Given the description of an element on the screen output the (x, y) to click on. 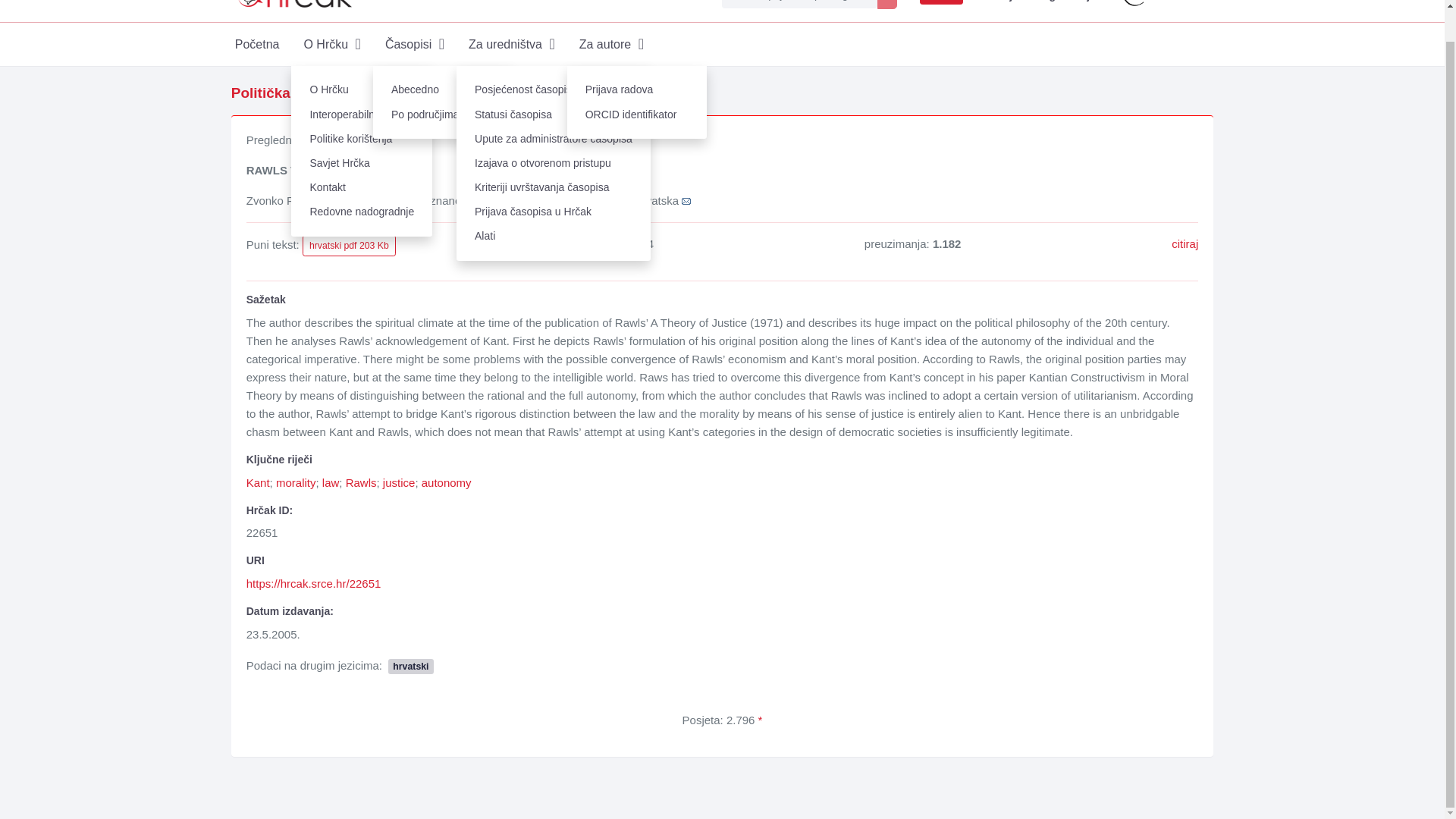
Alati (553, 236)
hrvatski pdf 203 Kb (349, 245)
Abecedno (442, 89)
Za autore (611, 44)
law (330, 481)
submit (886, 4)
citiraj (1185, 243)
ORCID identifikator (636, 114)
english (941, 2)
Vol. 41 No. 3 (553, 92)
